Given the description of an element on the screen output the (x, y) to click on. 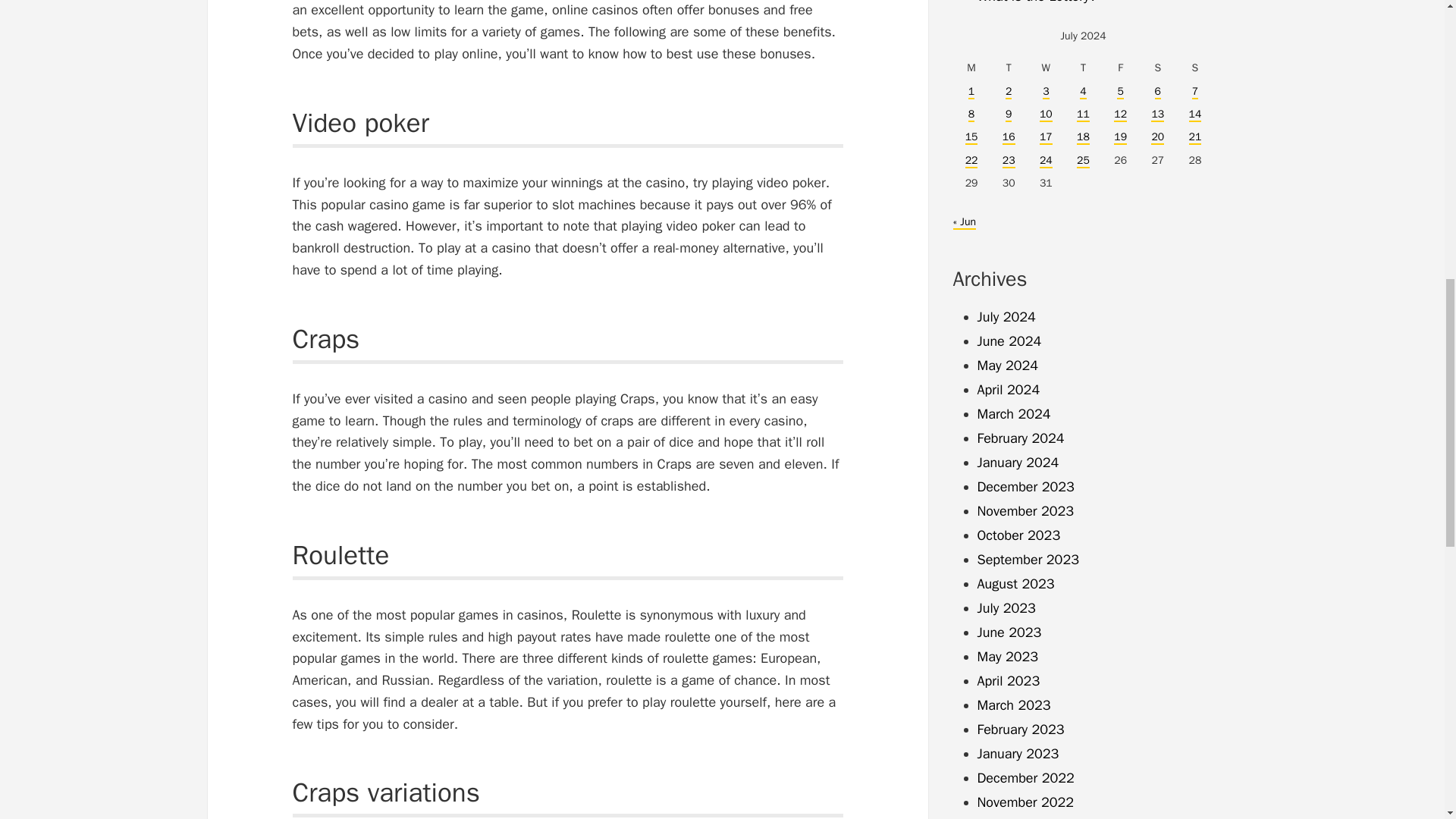
What is the Lottery? (1036, 2)
5 (1119, 92)
Tuesday (1008, 67)
17 (1045, 137)
14 (1195, 114)
11 (1083, 114)
Wednesday (1045, 67)
8 (971, 114)
9 (1008, 114)
4 (1083, 92)
Monday (971, 67)
2 (1008, 92)
3 (1045, 92)
1 (971, 92)
10 (1045, 114)
